Given the description of an element on the screen output the (x, y) to click on. 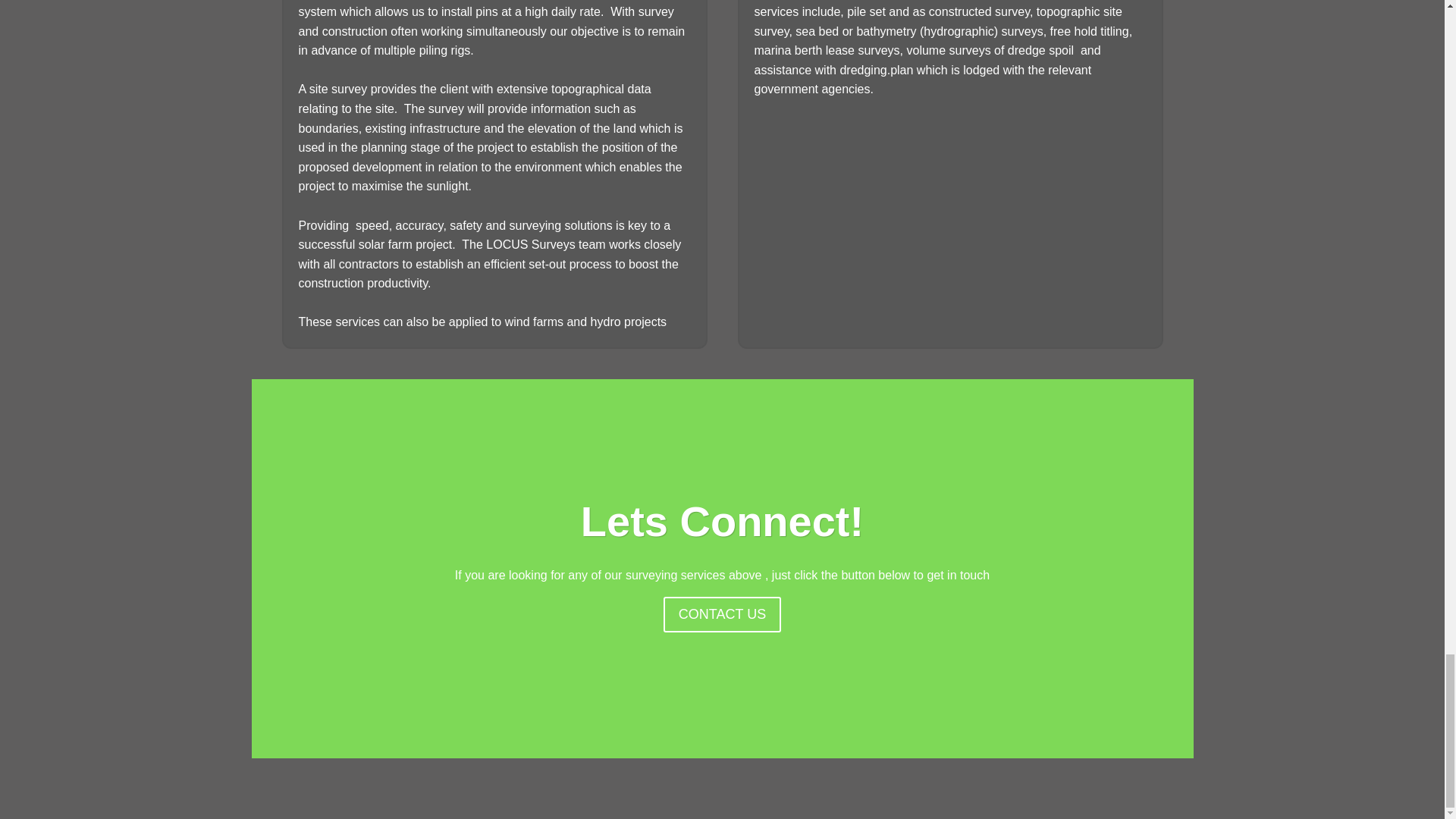
CONTACT US (721, 614)
